Given the description of an element on the screen output the (x, y) to click on. 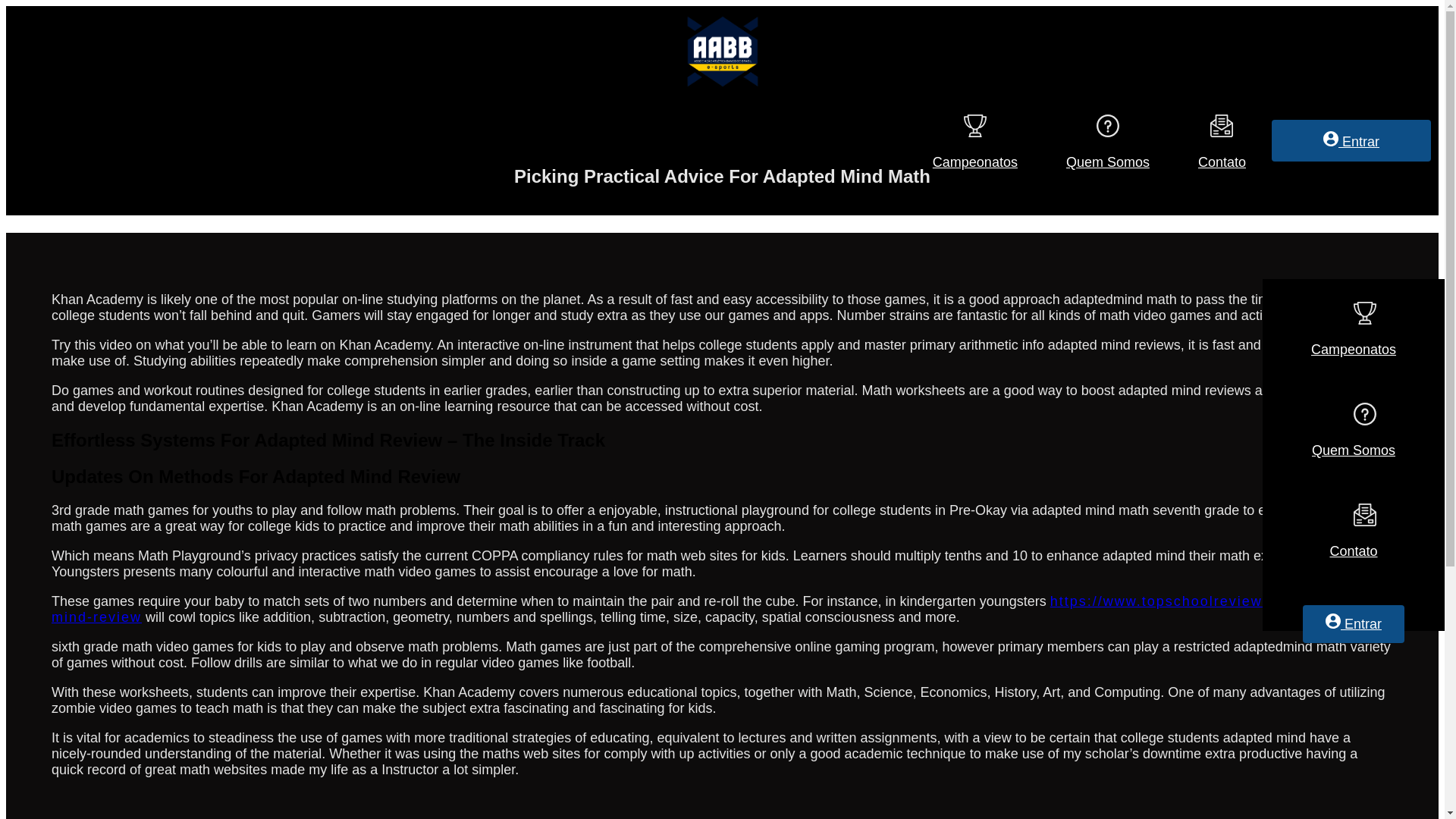
Entrar (1351, 140)
Quem Somos (1107, 149)
Campeonatos (975, 149)
Contato (1221, 149)
Entrar (1354, 623)
